Given the description of an element on the screen output the (x, y) to click on. 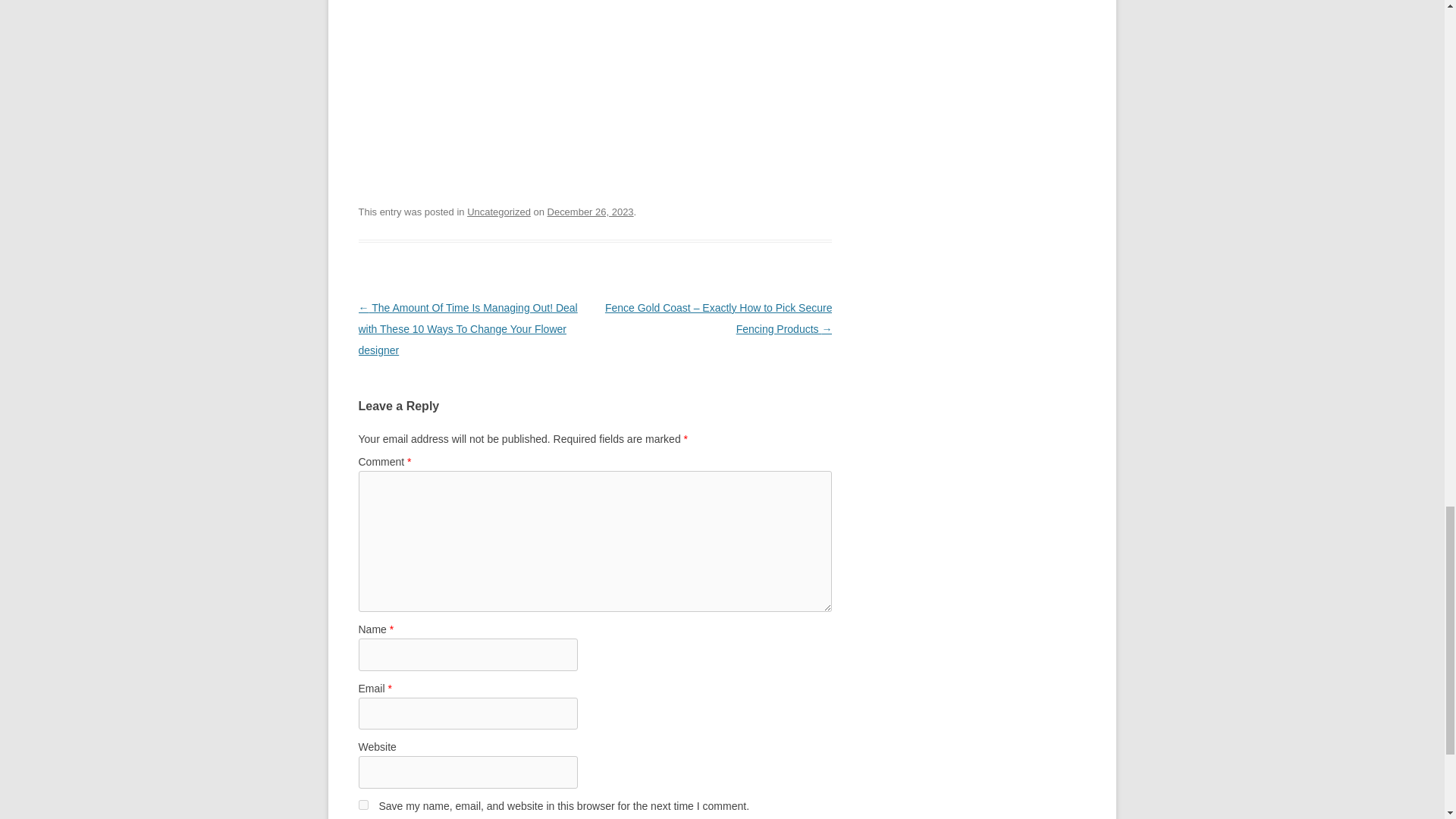
8:45 pm (590, 211)
Uncategorized (499, 211)
yes (363, 804)
December 26, 2023 (590, 211)
